Given the description of an element on the screen output the (x, y) to click on. 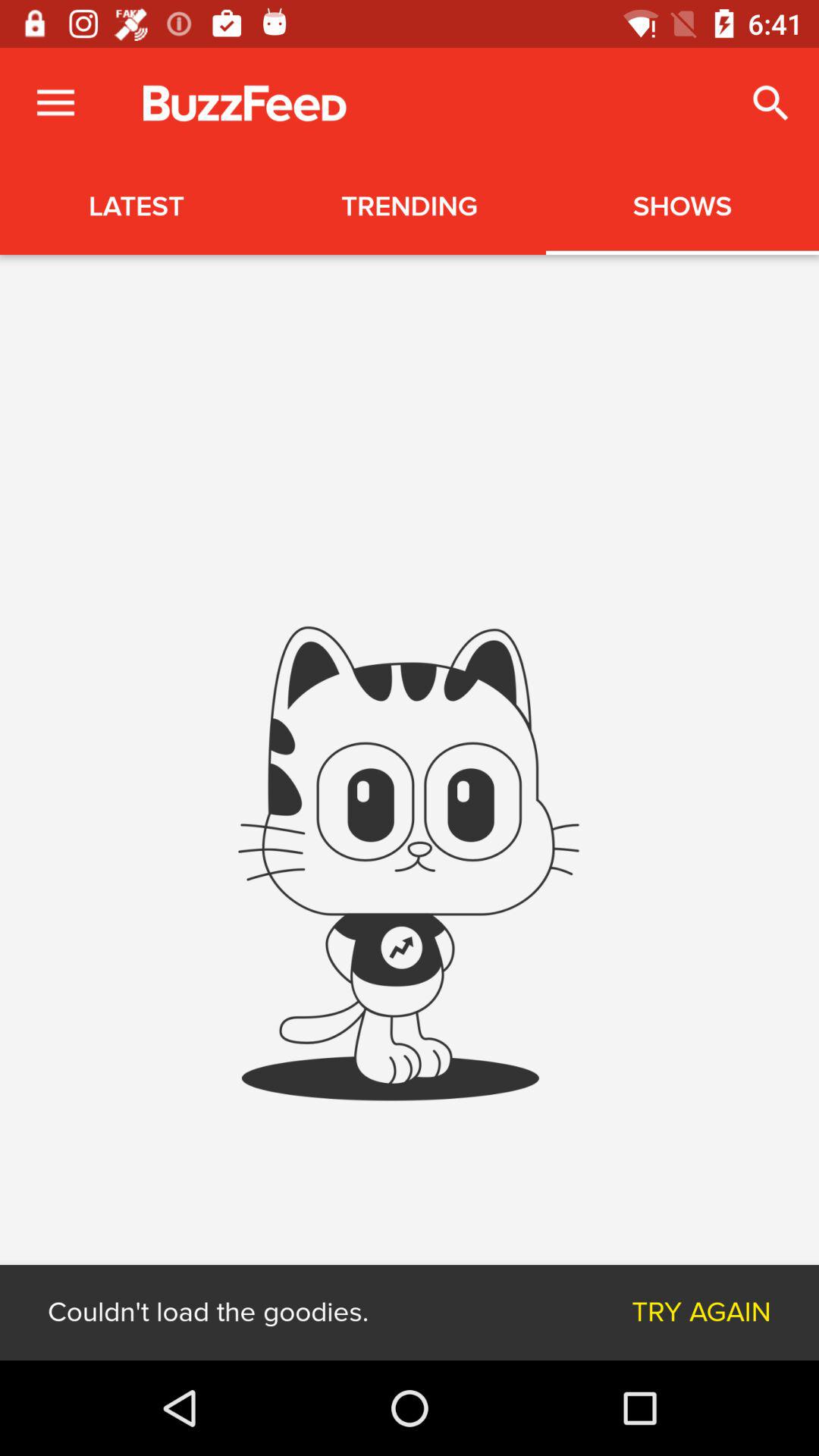
choose item below the shows icon (701, 1312)
